Given the description of an element on the screen output the (x, y) to click on. 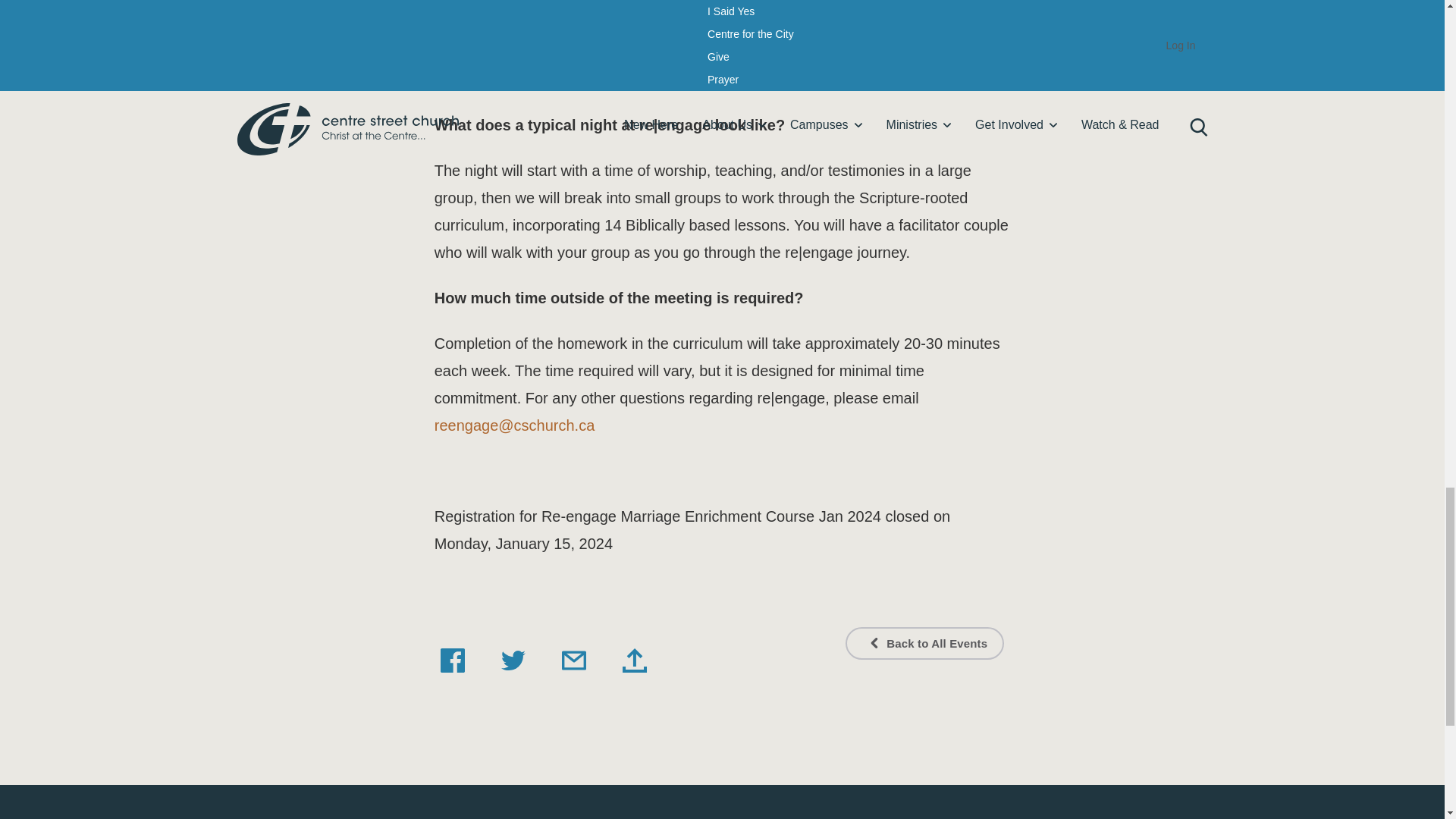
Share (633, 660)
